Given the description of an element on the screen output the (x, y) to click on. 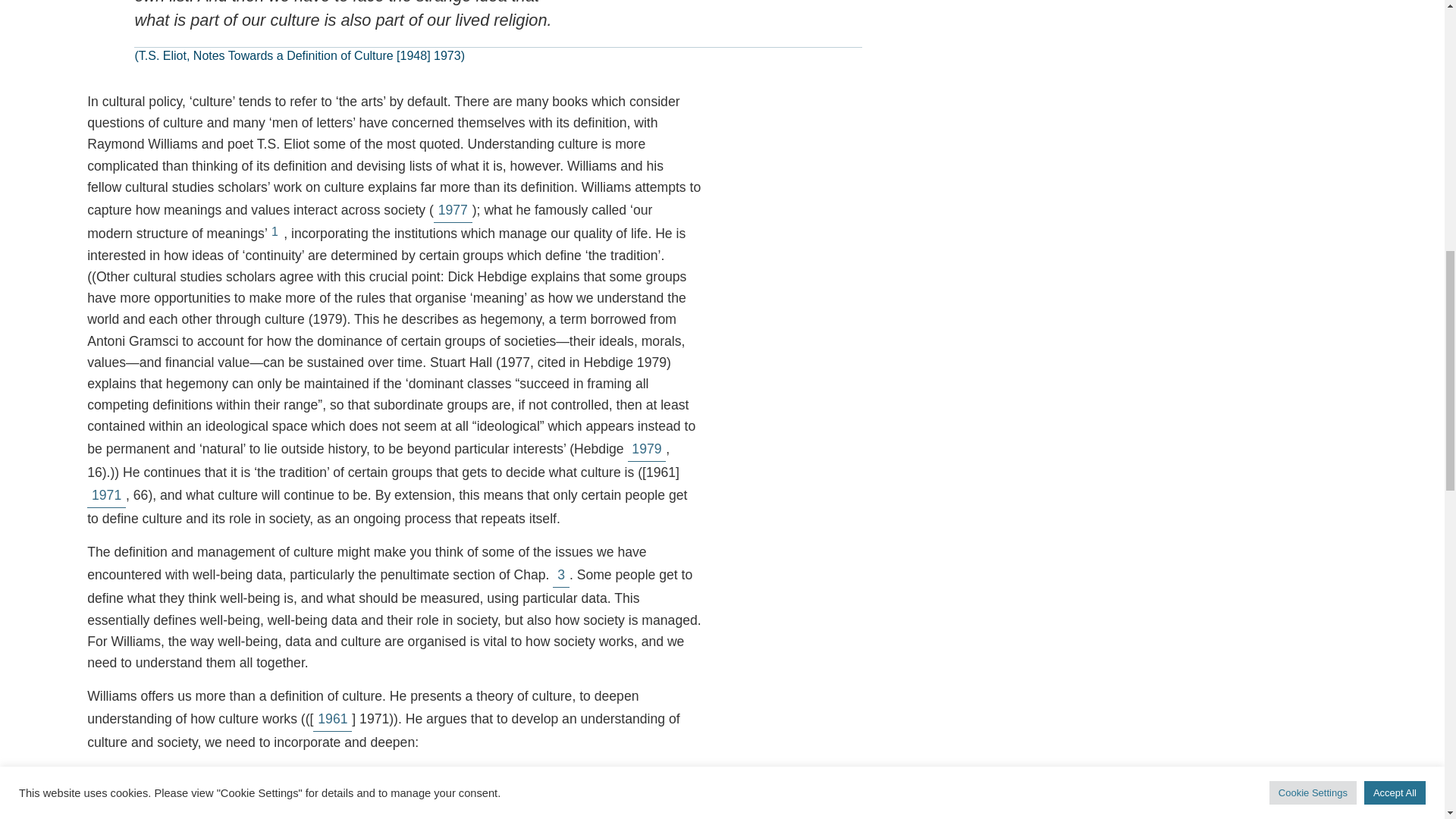
1961 (332, 719)
1971 (106, 495)
1977 (452, 210)
1979 (646, 448)
